Given the description of an element on the screen output the (x, y) to click on. 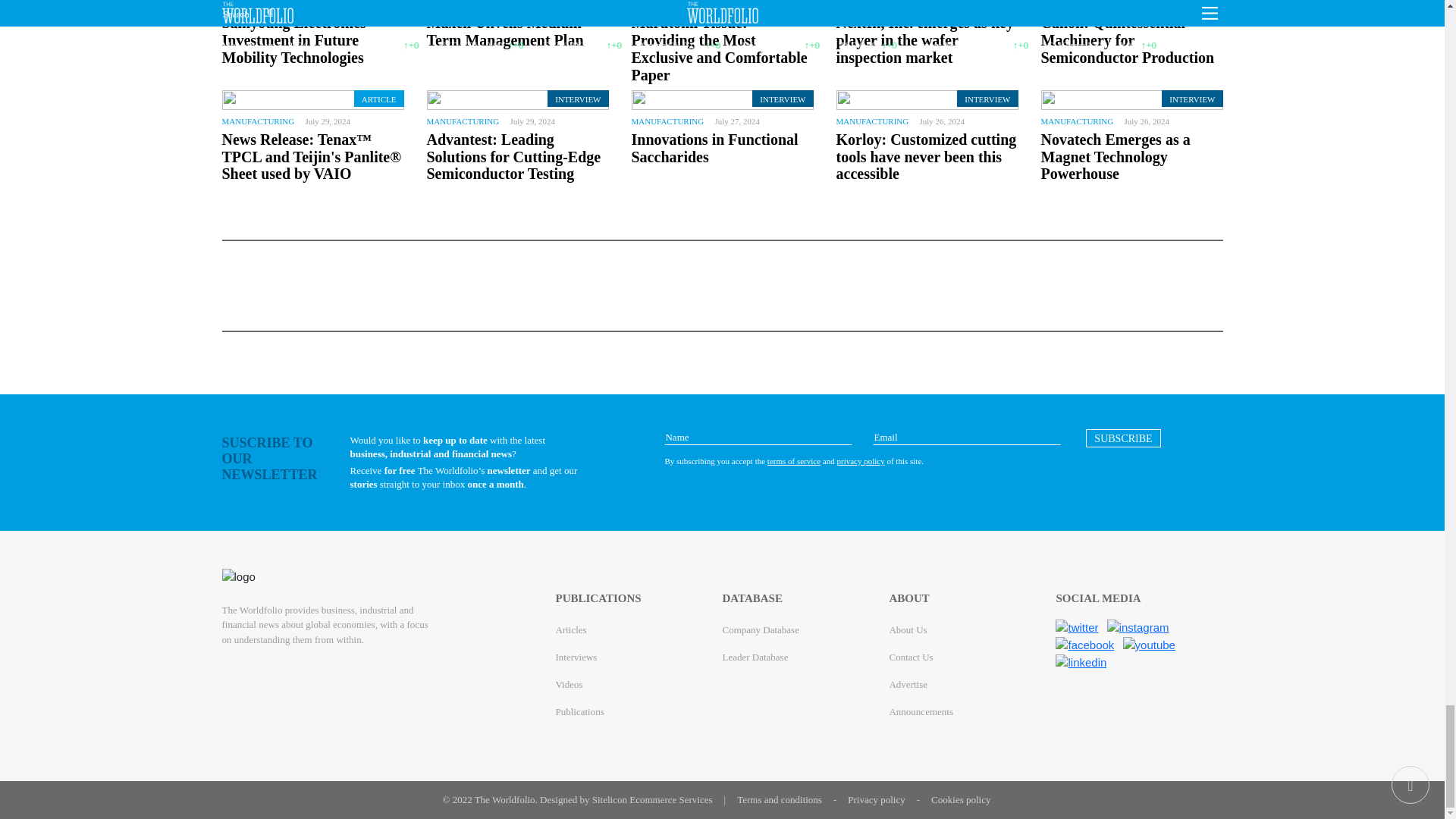
SUBSCRIBE (1123, 438)
